Given the description of an element on the screen output the (x, y) to click on. 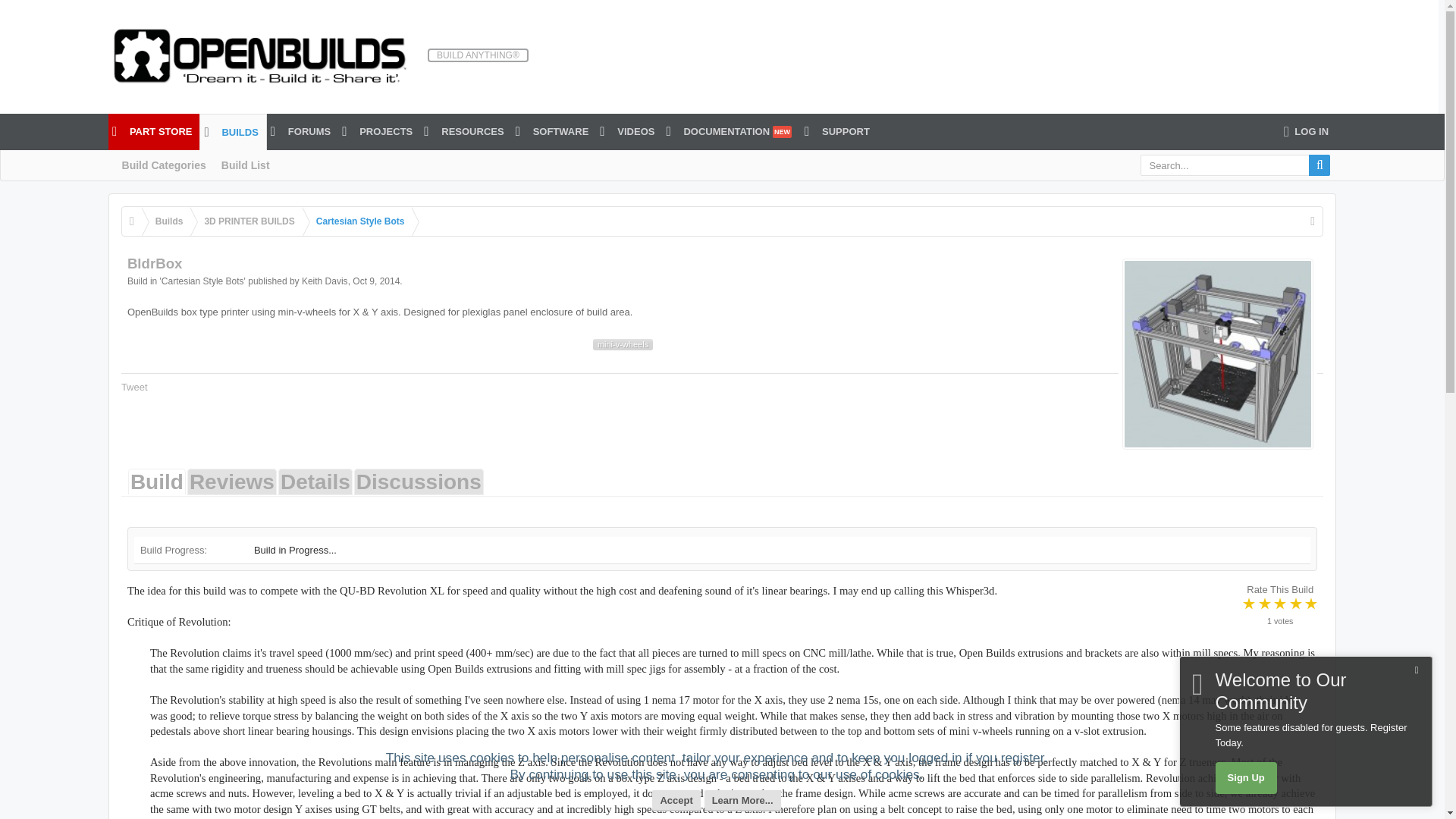
Enter your search and hit enter (1235, 165)
Oct 9, 2014 at 10:54 PM (375, 281)
BldrBox (1217, 353)
